Given the description of an element on the screen output the (x, y) to click on. 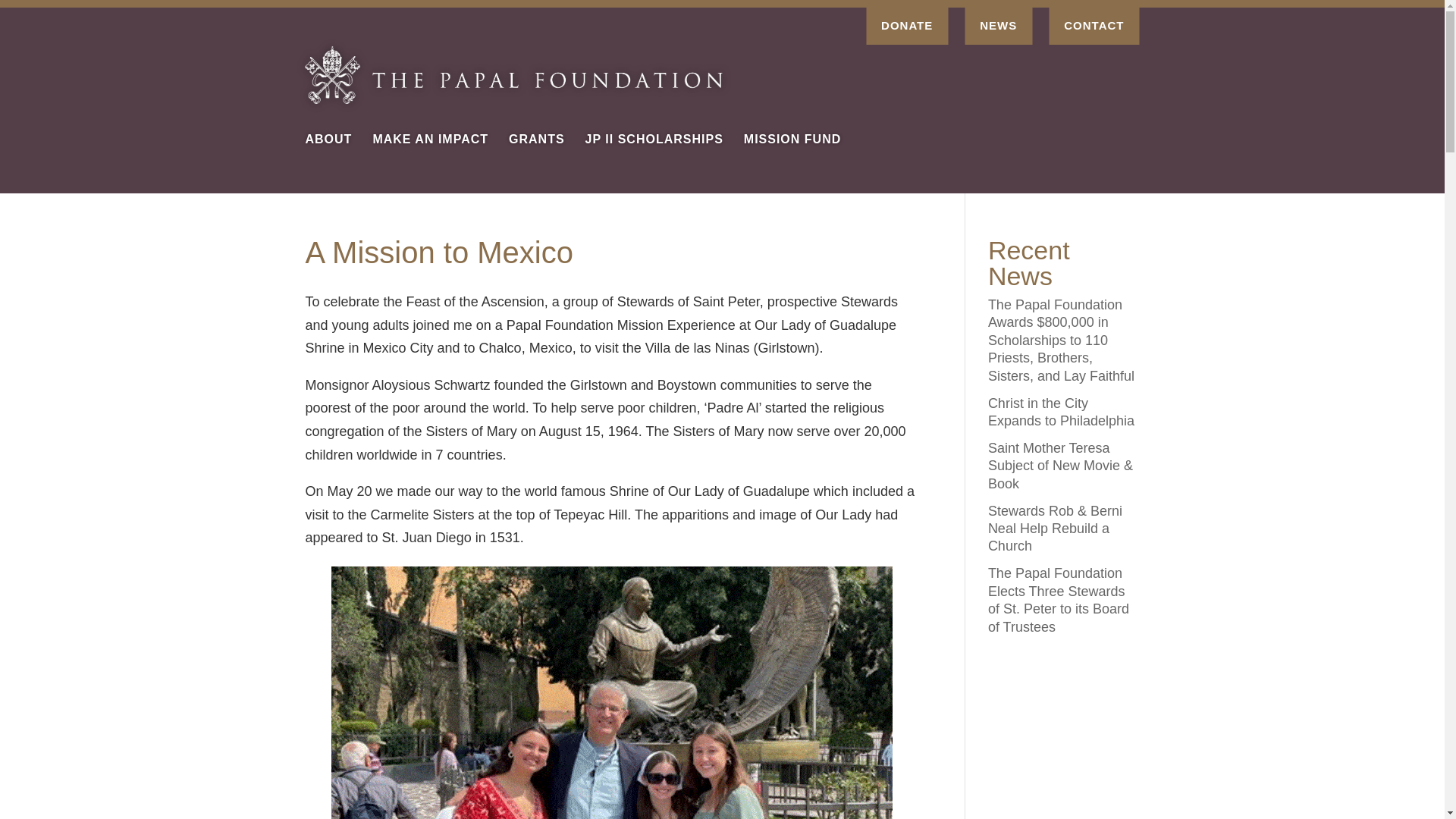
DONATE (906, 25)
NEWS (997, 25)
CONTACT (1093, 25)
